Given the description of an element on the screen output the (x, y) to click on. 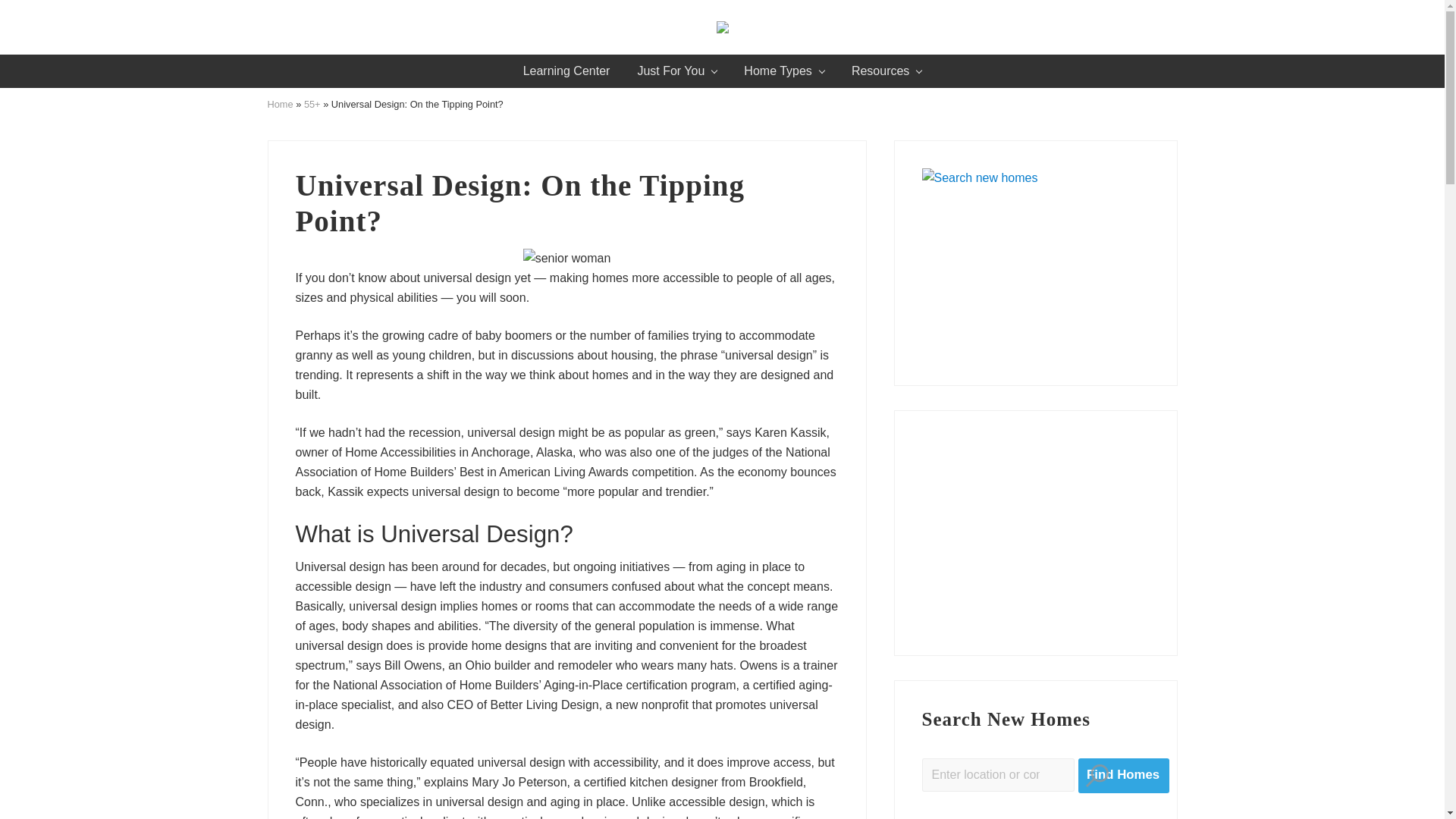
Resources (886, 70)
Home Types (784, 70)
Just For You (676, 70)
Learning Center (566, 70)
Find Homes (1123, 775)
